Given the description of an element on the screen output the (x, y) to click on. 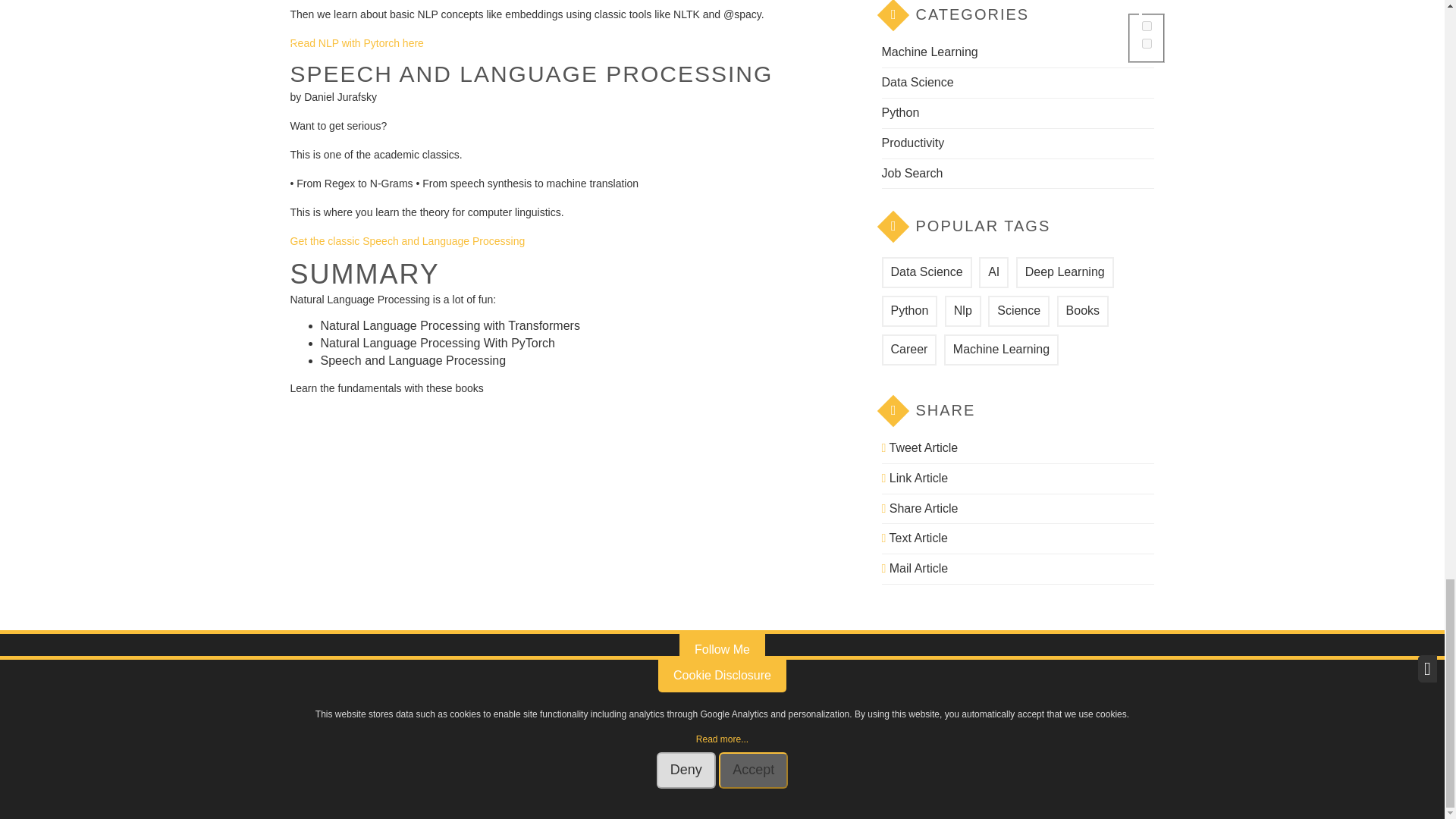
Link Up! (722, 703)
Follow Me! (640, 703)
Fork Me! (681, 703)
Share of Facebook! (919, 508)
Tweet on Twitter! (919, 447)
Email to a Friend! (913, 567)
Share on Linkedin! (913, 477)
Work with Me! (805, 703)
Text on Whatsapp! (913, 537)
Sub to Me! (763, 703)
